Given the description of an element on the screen output the (x, y) to click on. 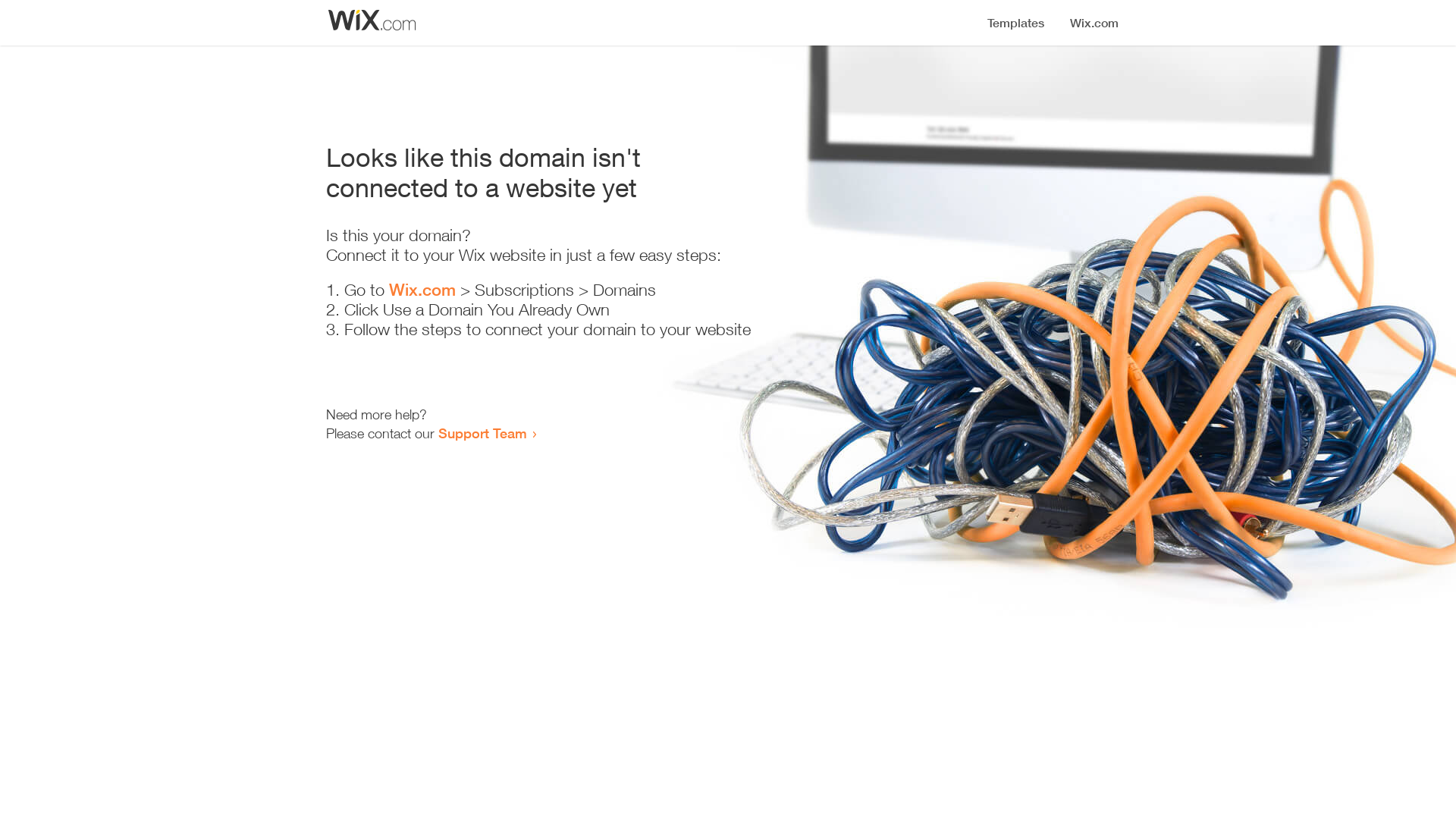
Wix.com Element type: text (422, 289)
Support Team Element type: text (482, 432)
